Given the description of an element on the screen output the (x, y) to click on. 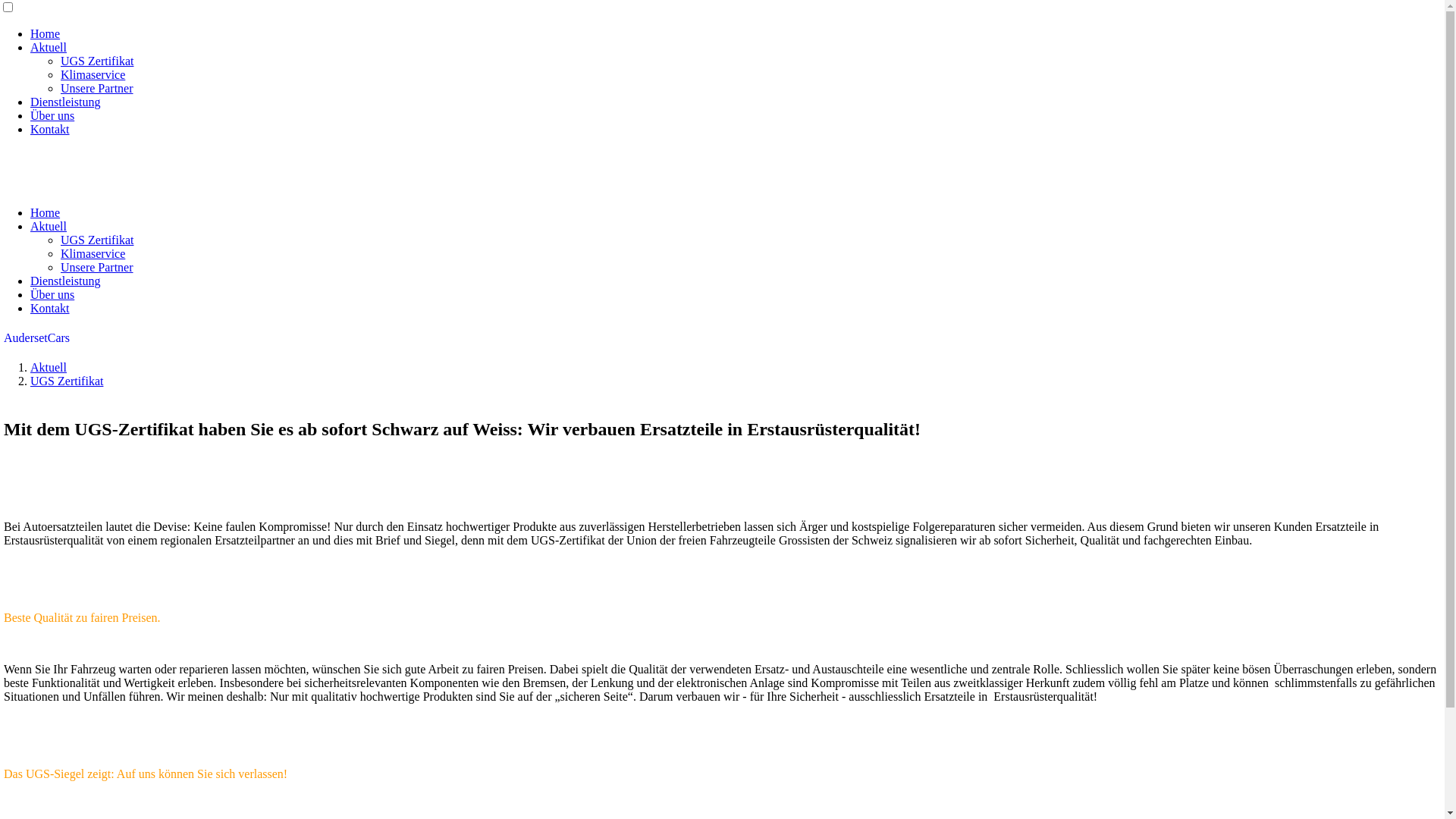
Home Element type: text (44, 33)
Dienstleistung Element type: text (65, 280)
Aktuell Element type: text (48, 366)
Kontakt Element type: text (49, 128)
Kontakt Element type: text (49, 307)
Klimaservice Element type: text (92, 253)
AudersetCars Element type: text (36, 337)
Dienstleistung Element type: text (65, 101)
UGS Zertifikat Element type: text (96, 239)
Unsere Partner Element type: text (96, 87)
Klimaservice Element type: text (92, 74)
Aktuell Element type: text (48, 46)
Unsere Partner Element type: text (96, 266)
Home Element type: text (44, 212)
Aktuell Element type: text (48, 225)
UGS Zertifikat Element type: text (66, 380)
UGS Zertifikat Element type: text (96, 60)
